Given the description of an element on the screen output the (x, y) to click on. 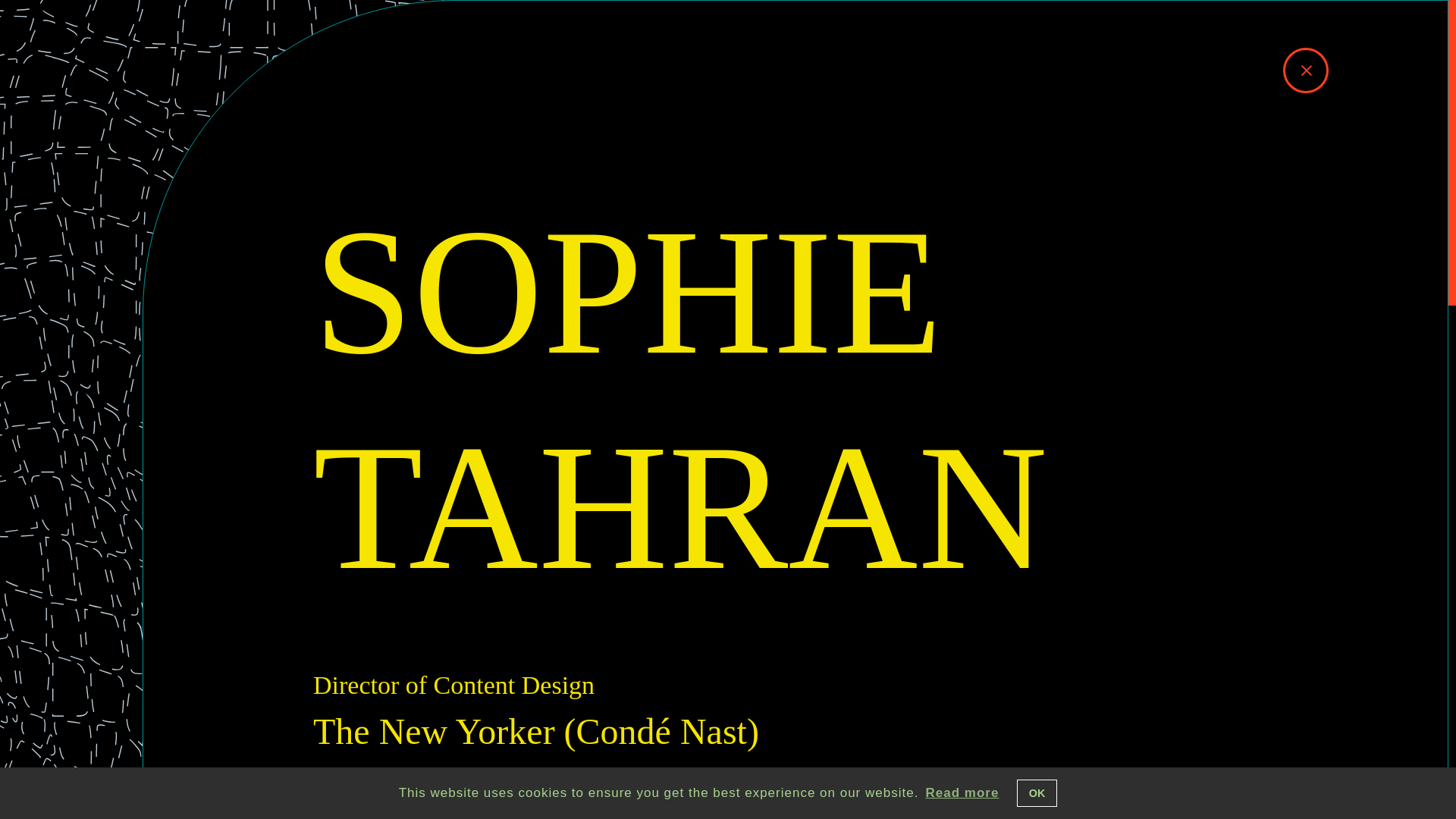
Read more (962, 793)
OK (1037, 792)
